Given the description of an element on the screen output the (x, y) to click on. 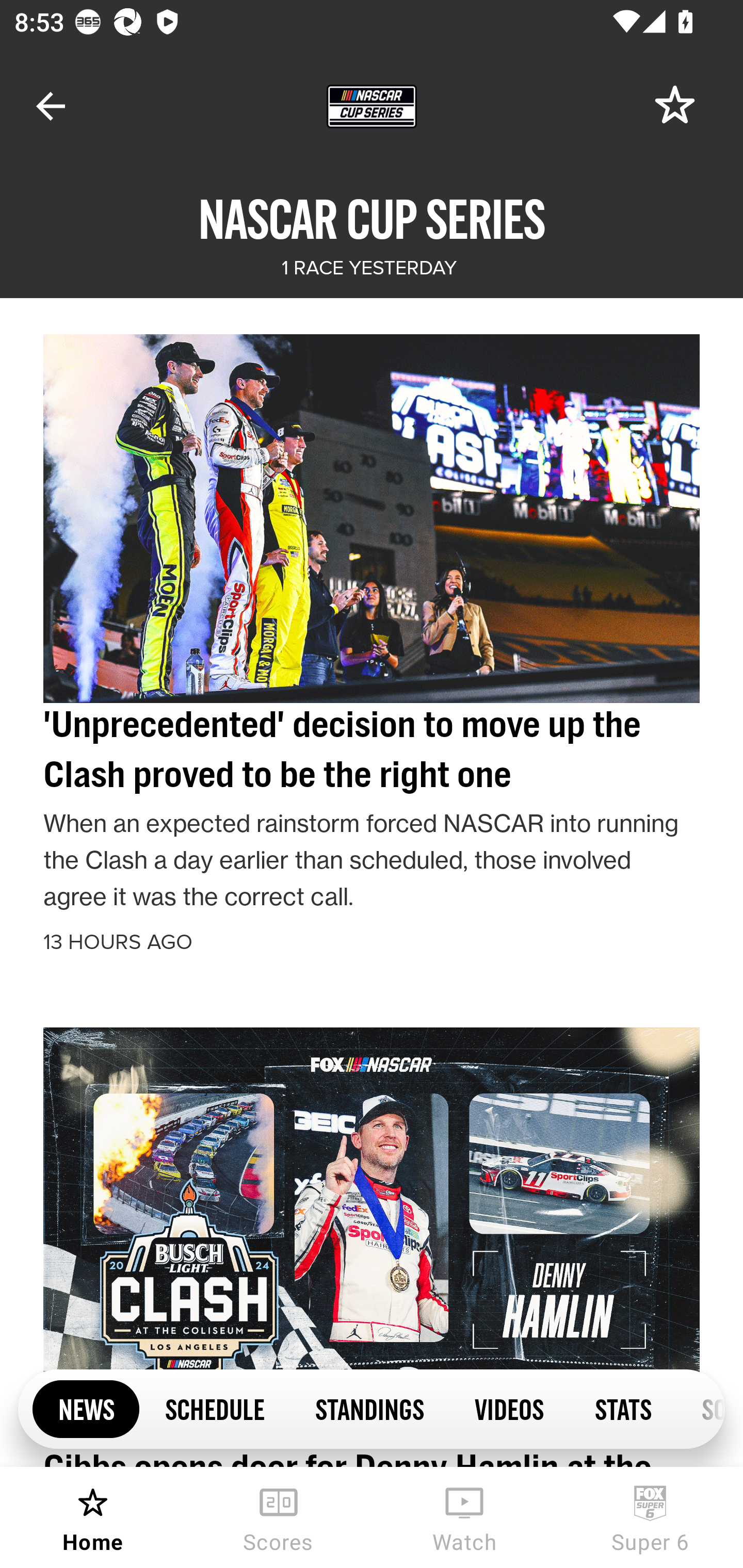
Navigate up (50, 106)
1 RACE YESTERDAY (368, 267)
SCHEDULE (214, 1408)
STANDINGS (369, 1408)
VIDEOS (509, 1408)
STATS (622, 1408)
Scores (278, 1517)
Watch (464, 1517)
Super 6 (650, 1517)
